Given the description of an element on the screen output the (x, y) to click on. 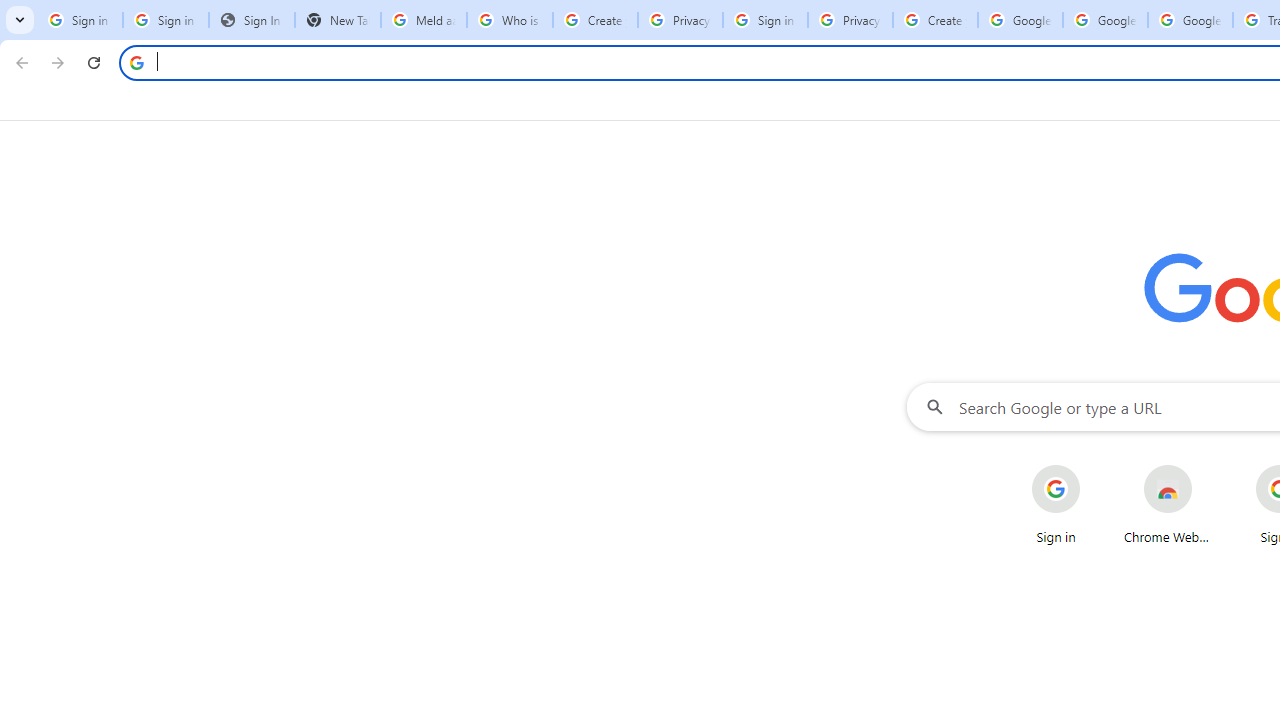
New Tab (337, 20)
Create your Google Account (935, 20)
Chrome Web Store (1167, 504)
Sign in - Google Accounts (165, 20)
Sign in - Google Accounts (79, 20)
Sign in - Google Accounts (765, 20)
Google Account (1190, 20)
